Given the description of an element on the screen output the (x, y) to click on. 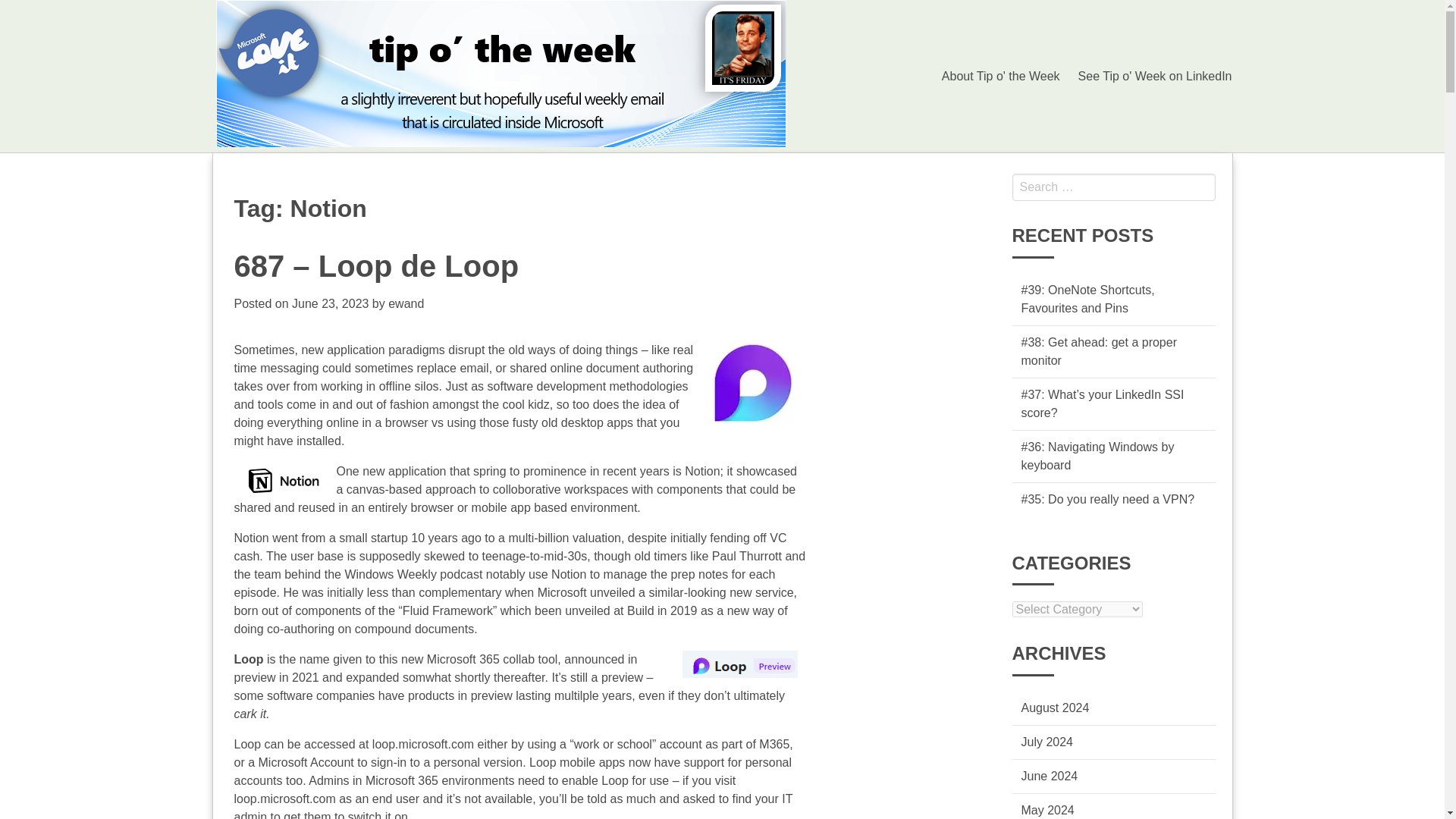
About Tip o' the Week (1000, 75)
supposedly skewed to teenage-to-mid-30s (473, 555)
ewand (405, 303)
loop.microsoft.com (283, 798)
cark it (249, 713)
loop.microsoft.com (423, 744)
preview in 2021 (275, 676)
unveiled at Build in 2019 (630, 610)
some software companies (303, 695)
Search for: (1112, 186)
